Given the description of an element on the screen output the (x, y) to click on. 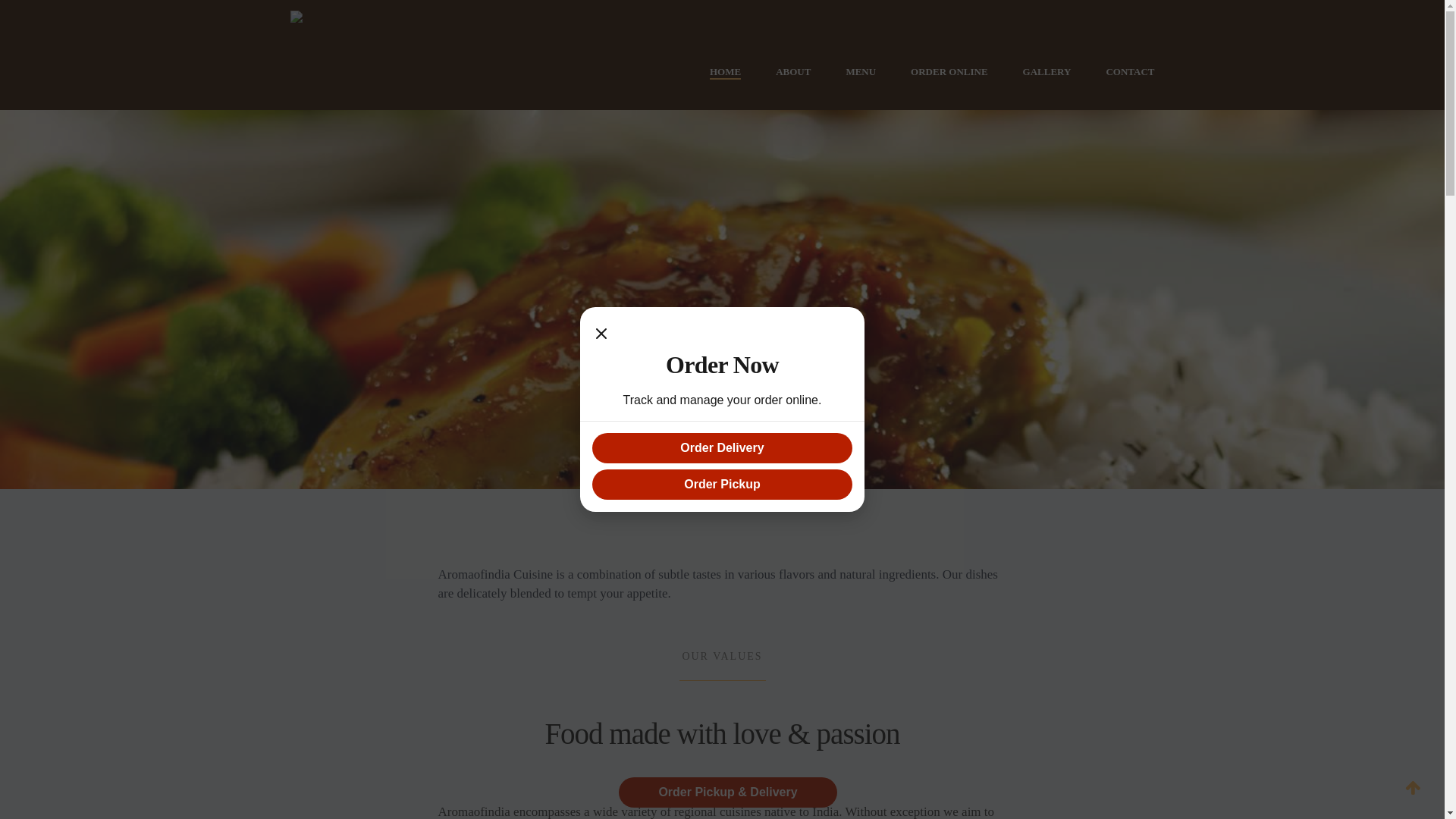
CONTACT Element type: text (1129, 71)
Order Delivery Element type: text (722, 448)
ABOUT Element type: text (792, 71)
ORDER ONLINE Element type: text (949, 71)
Order Pickup Element type: text (722, 484)
GALLERY Element type: text (1046, 71)
MENU Element type: text (860, 71)
HOME Element type: text (724, 71)
Order Pickup & Delivery Element type: text (727, 791)
